Given the description of an element on the screen output the (x, y) to click on. 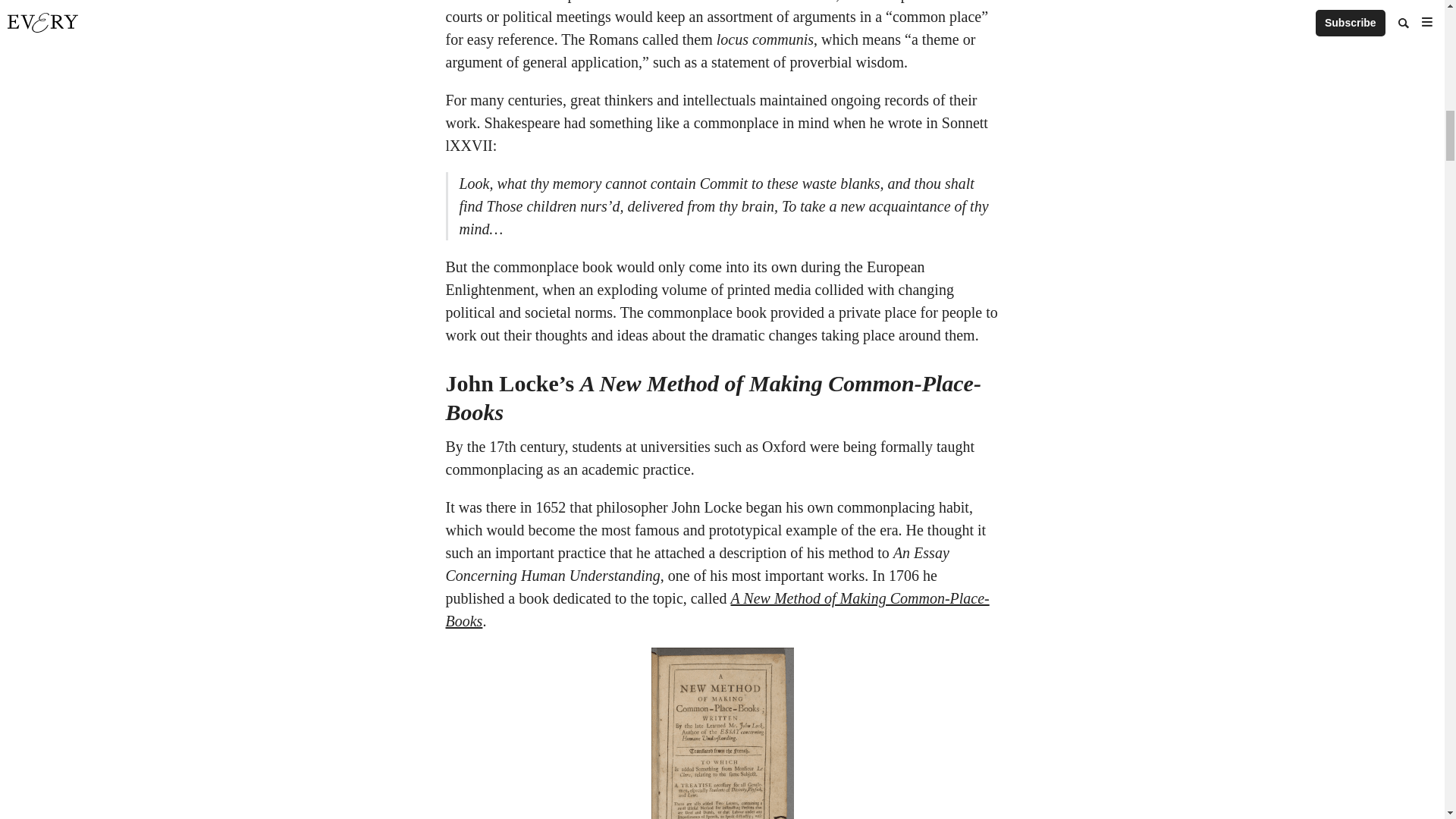
A New Method of Making Common-Place-Books (717, 609)
